Given the description of an element on the screen output the (x, y) to click on. 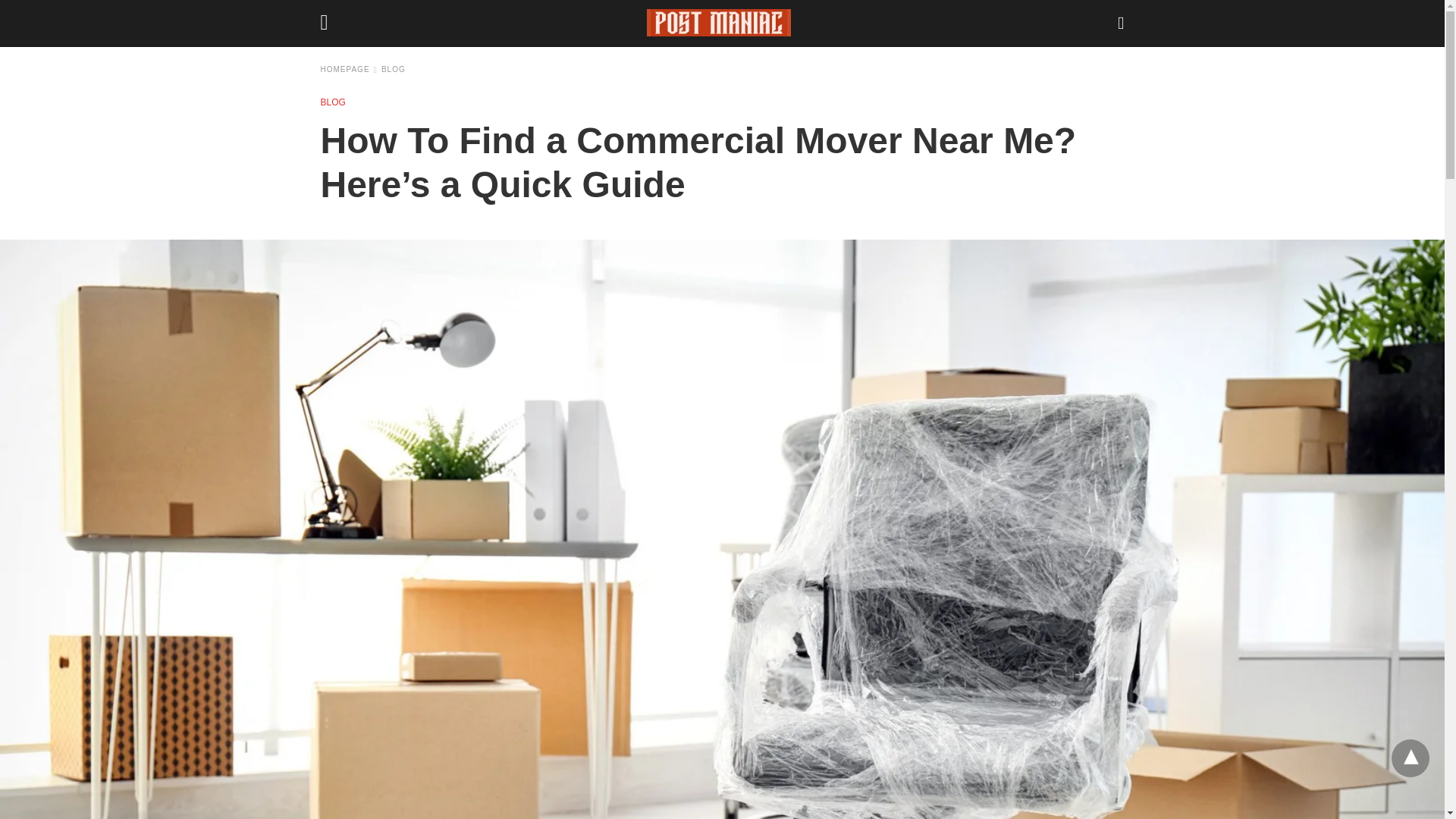
POST MANIAC (718, 22)
Blog (393, 69)
Homepage (348, 69)
HOMEPAGE (348, 69)
Blog (332, 102)
BLOG (332, 102)
BLOG (393, 69)
